Given the description of an element on the screen output the (x, y) to click on. 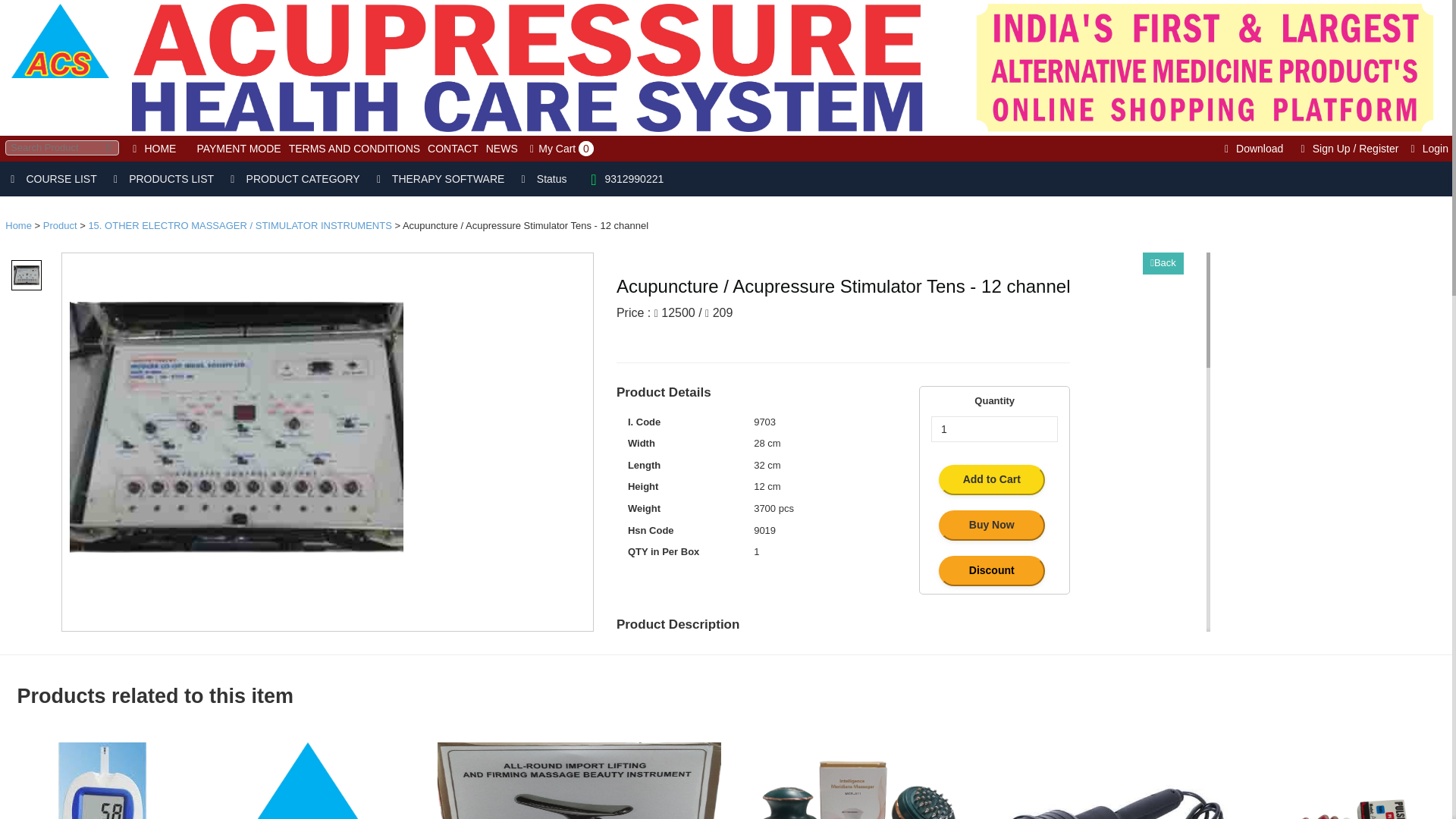
Status (541, 178)
PRODUCTS LIST (161, 178)
My Cart 0 (558, 148)
THERAPY SOFTWARE (438, 178)
Download (1251, 148)
HOME (151, 148)
NEWS (501, 148)
TERMS AND CONDITIONS (354, 148)
0 out of 5 (657, 338)
CONTACT (452, 148)
COURSE LIST (51, 178)
PRODUCT CATEGORY (292, 178)
9312990221 (621, 178)
PAYMENT MODE (237, 148)
1 (994, 429)
